Given the description of an element on the screen output the (x, y) to click on. 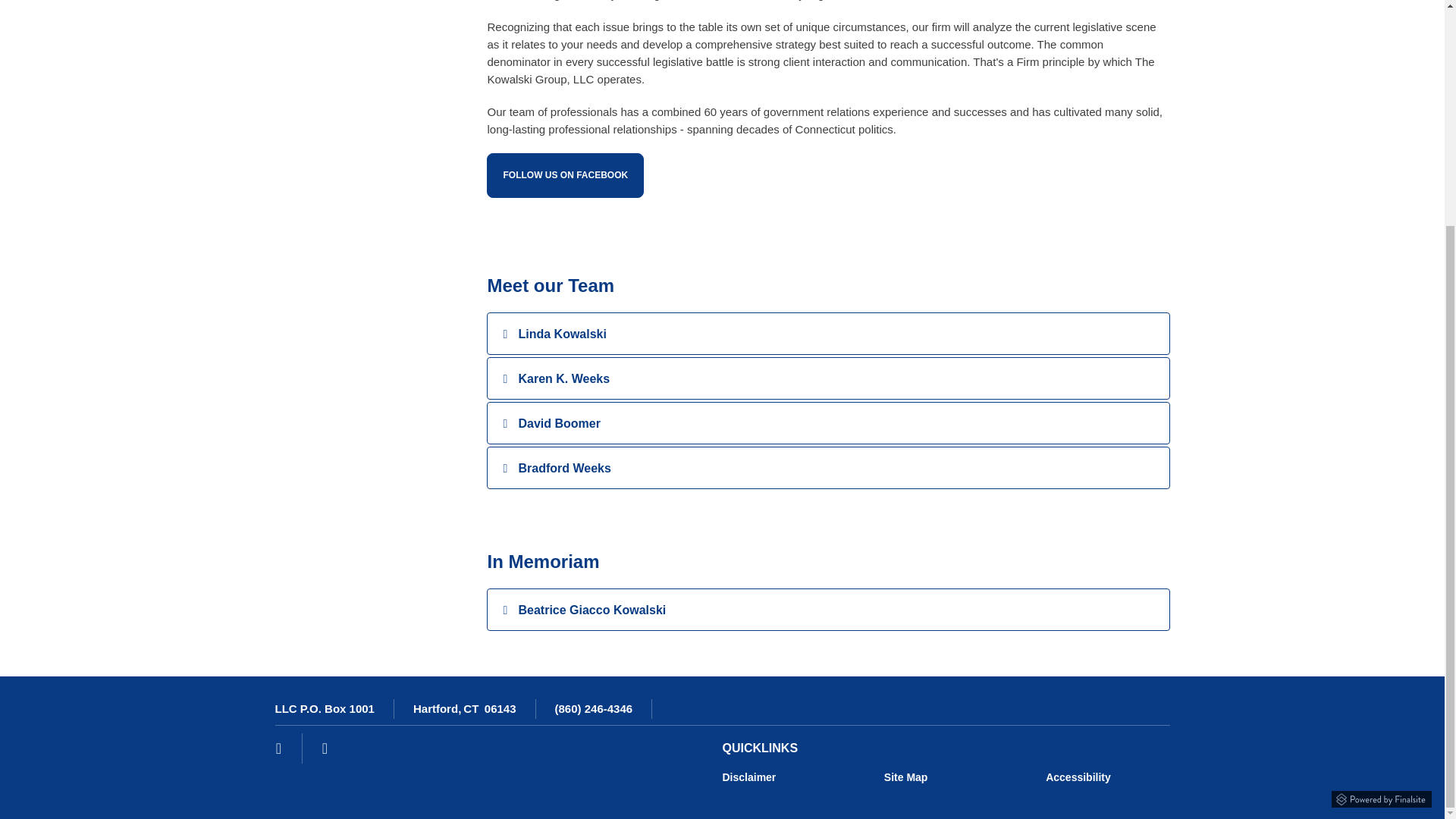
Bradford Weeks (564, 468)
David Boomer (558, 422)
Karen K. Weeks (564, 378)
Linda Kowalski (561, 333)
FOLLOW US ON FACEBOOK (564, 175)
Powered by Finalsite opens in a new window (1382, 796)
